Given the description of an element on the screen output the (x, y) to click on. 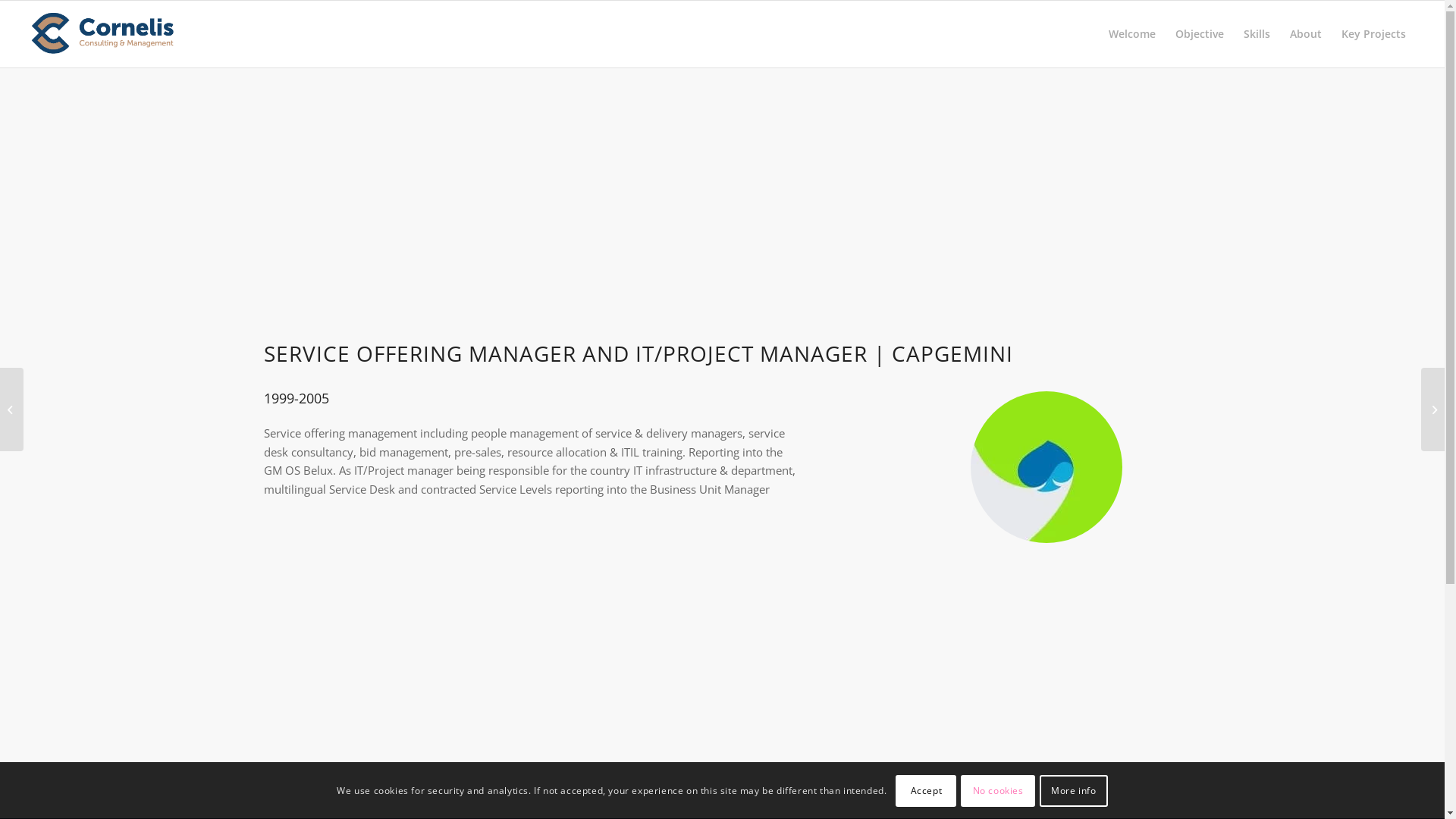
No cookies Element type: text (997, 790)
Gapgemini Element type: hover (1046, 466)
Welcome Element type: text (1131, 33)
Accept Element type: text (925, 790)
Objective Element type: text (1199, 33)
Key Projects Element type: text (1373, 33)
More info Element type: text (1073, 790)
Skills Element type: text (1256, 33)
ccandm_TRANSPARANT_SITE Element type: hover (101, 33)
About Element type: text (1305, 33)
